Given the description of an element on the screen output the (x, y) to click on. 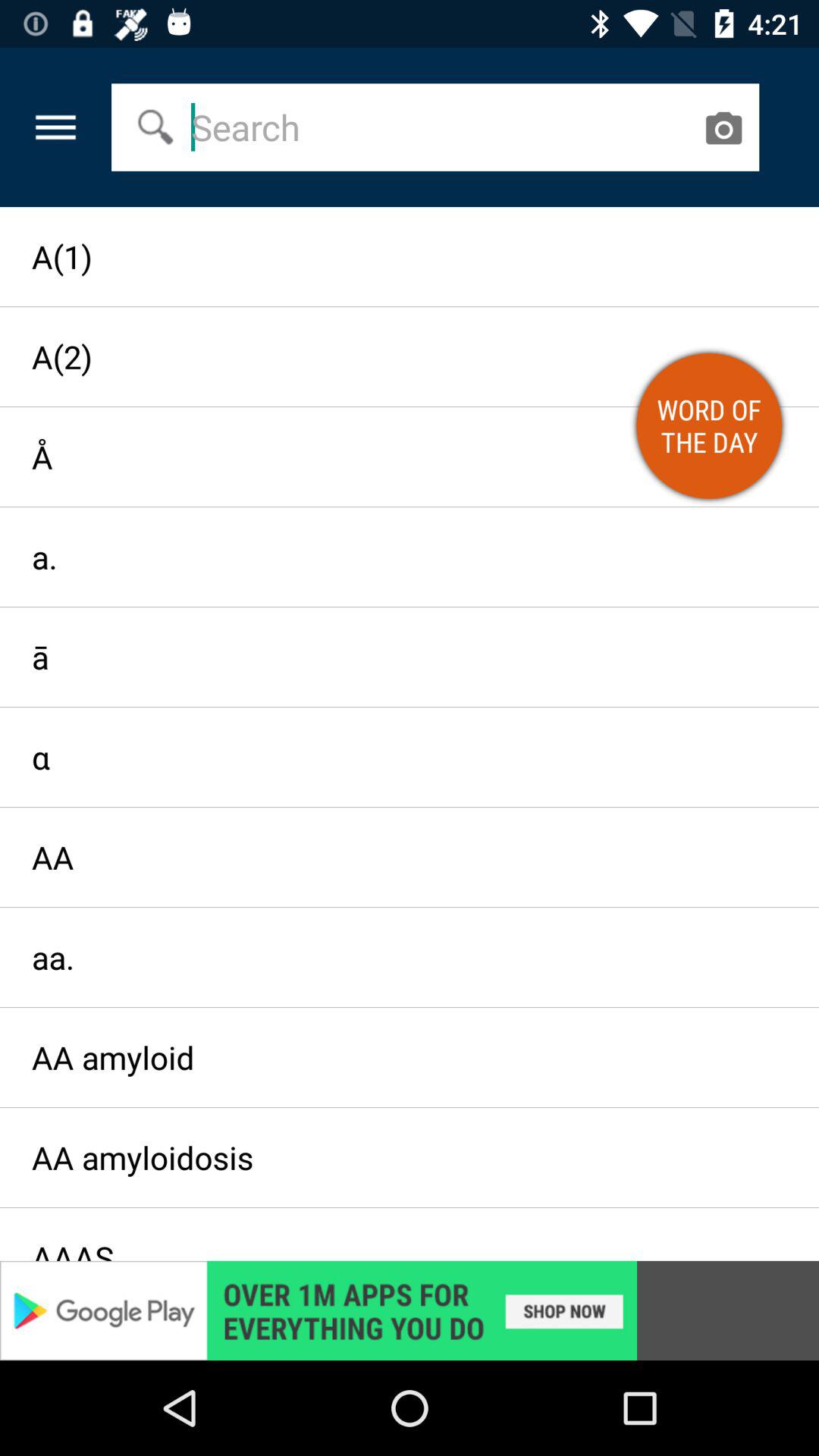
clickable advertisement (409, 1310)
